Given the description of an element on the screen output the (x, y) to click on. 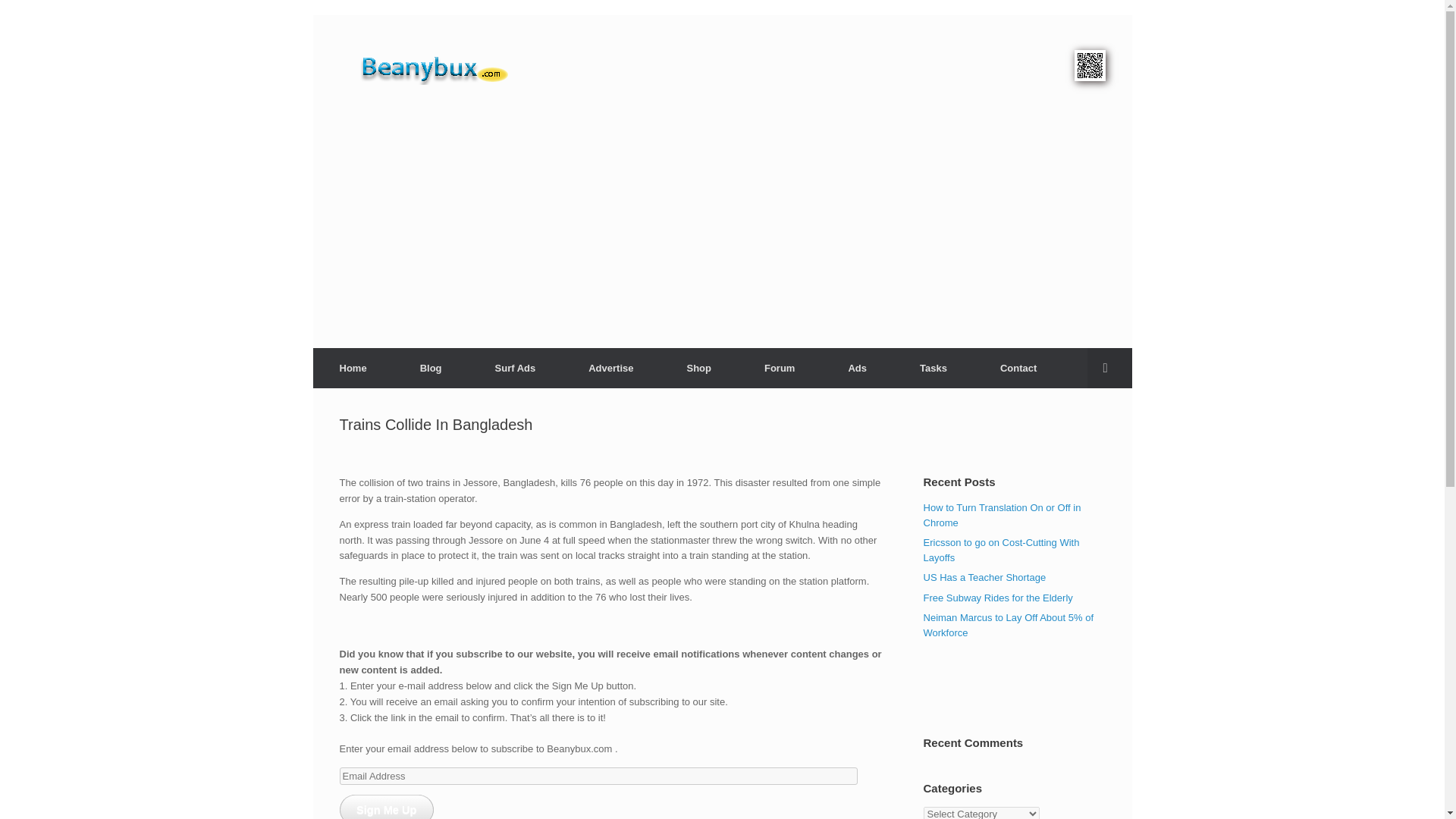
Home (353, 367)
Ads (857, 367)
How to Turn Translation On or Off in Chrome (1002, 515)
Contact (1018, 367)
Shop (698, 367)
Tasks (933, 367)
Sign Me Up (386, 806)
Beanybux.com (457, 67)
Forum (779, 367)
Advertise (610, 367)
Surf Ads (515, 367)
Blog (430, 367)
